Given the description of an element on the screen output the (x, y) to click on. 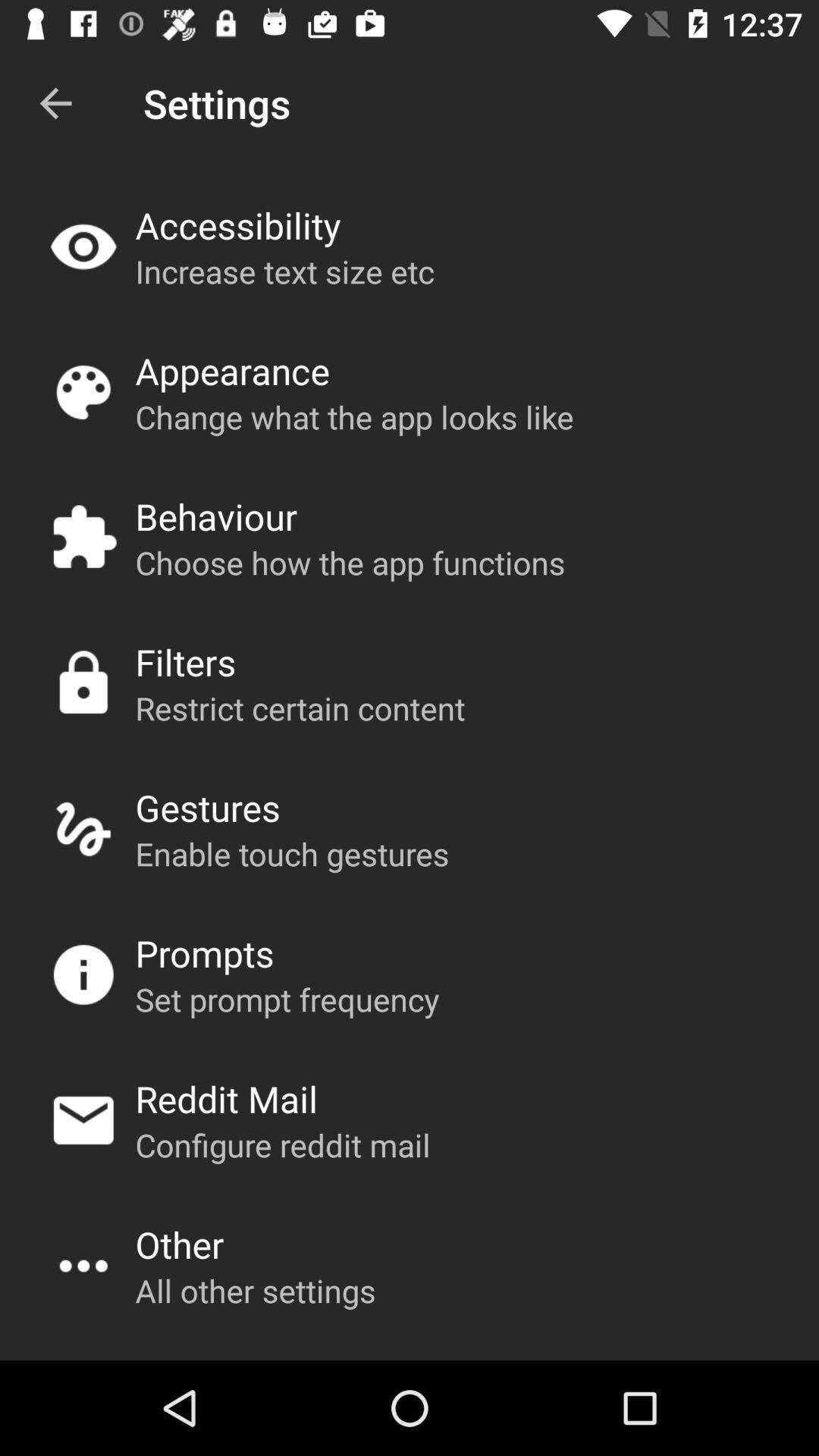
open the app below increase text size app (232, 370)
